Given the description of an element on the screen output the (x, y) to click on. 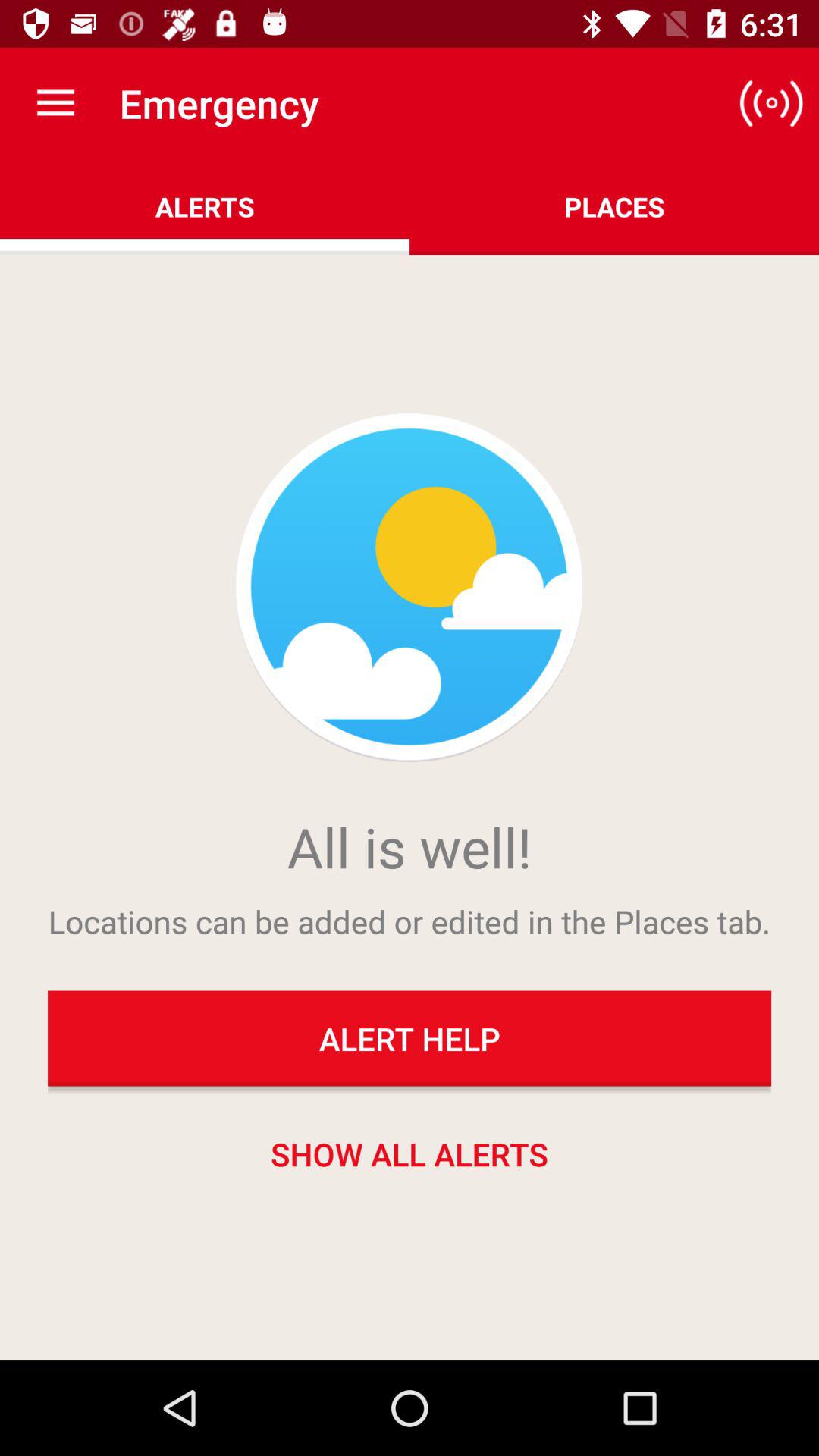
turn on the item below the locations can be item (409, 1038)
